Given the description of an element on the screen output the (x, y) to click on. 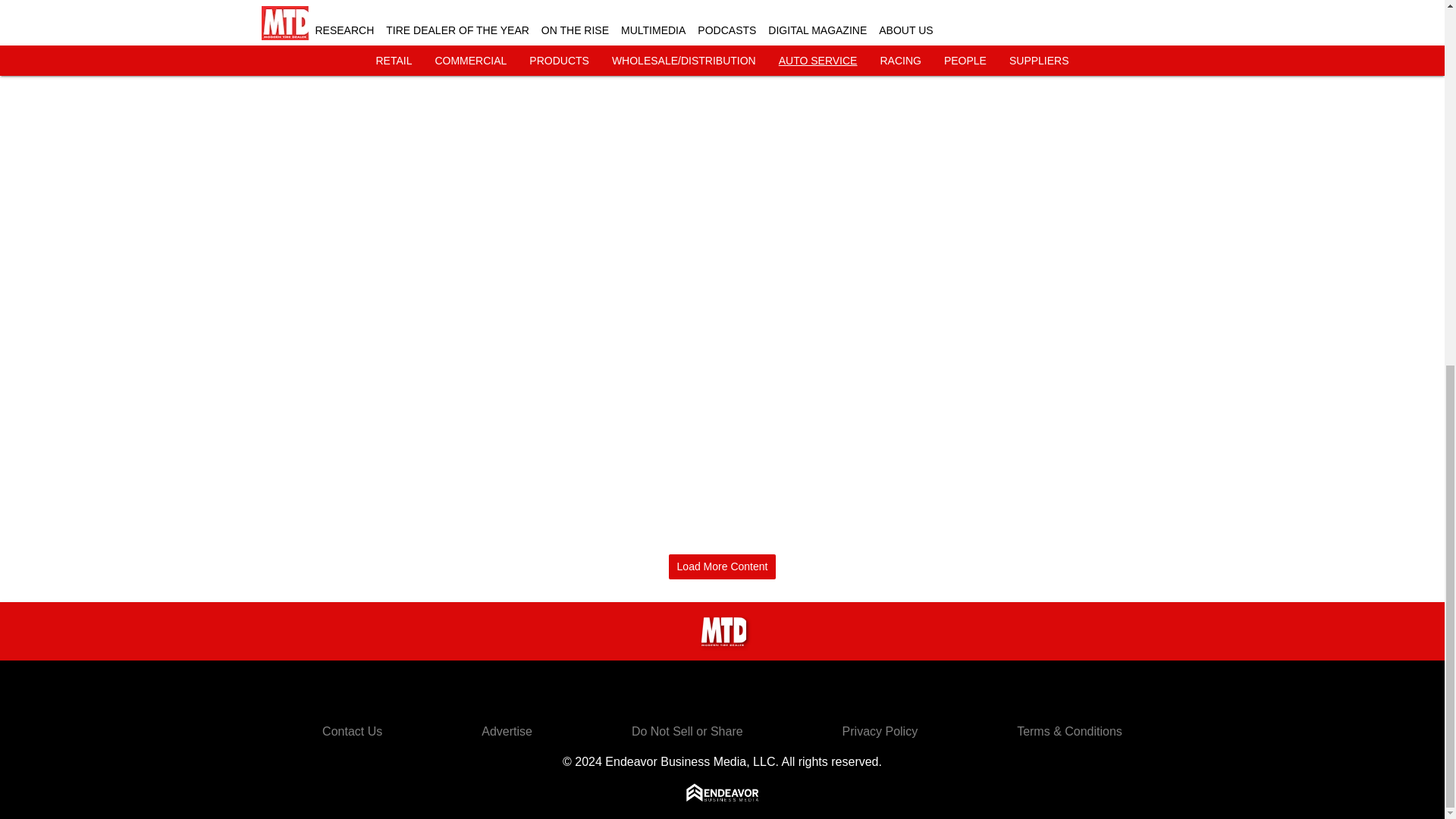
Airtex goes 3D with 360-degree fuel pump photos (390, 2)
Service (1097, 5)
